Given the description of an element on the screen output the (x, y) to click on. 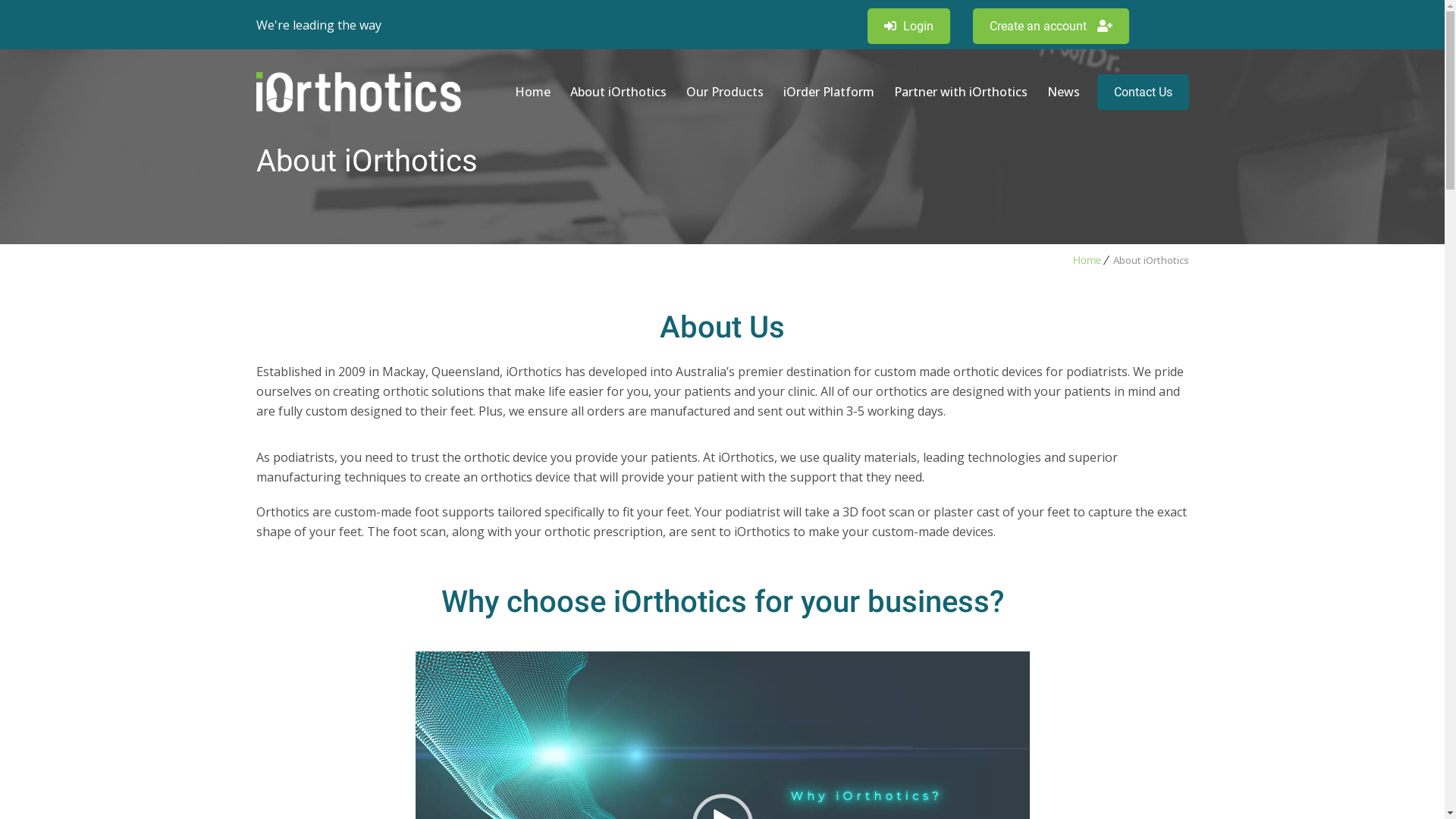
About iOrthotics Element type: text (617, 91)
News Element type: text (1063, 91)
Create an account Element type: text (1050, 25)
Home Element type: text (532, 91)
Home Element type: text (1086, 260)
Login Element type: text (908, 25)
Partner with iOrthotics Element type: text (960, 91)
iOrder Platform Element type: text (828, 91)
Contact Us Element type: text (1142, 91)
Our Products Element type: text (724, 91)
